Given the description of an element on the screen output the (x, y) to click on. 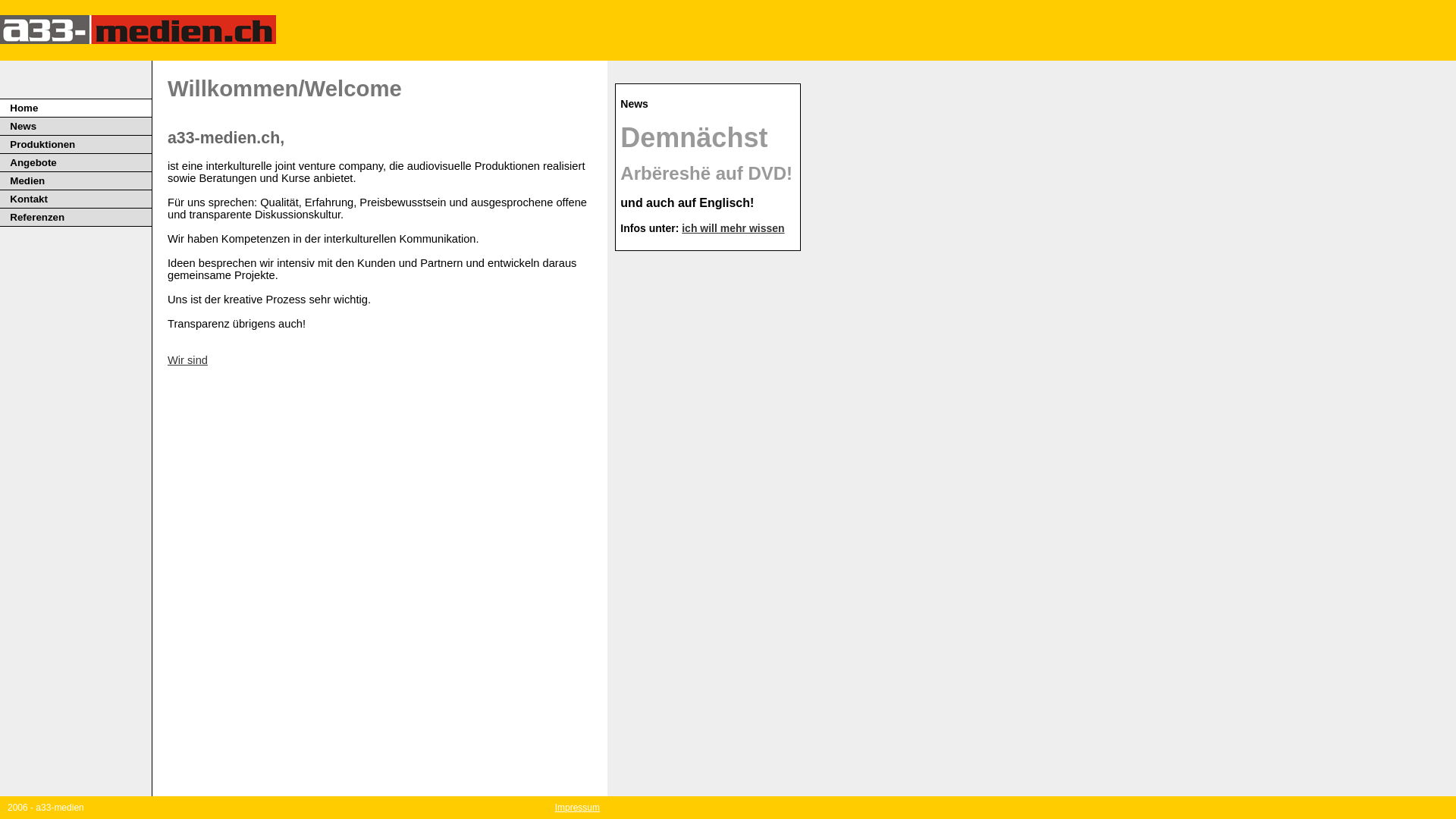
ich will mehr wissen Element type: text (732, 228)
Medien Element type: text (26, 180)
Angebote Element type: text (32, 162)
Impressum Element type: text (577, 807)
Produktionen Element type: text (42, 144)
Home Element type: text (23, 107)
Kontakt Element type: text (28, 198)
Referenzen Element type: text (36, 216)
News Element type: text (22, 125)
Wir sind Element type: text (187, 360)
